Given the description of an element on the screen output the (x, y) to click on. 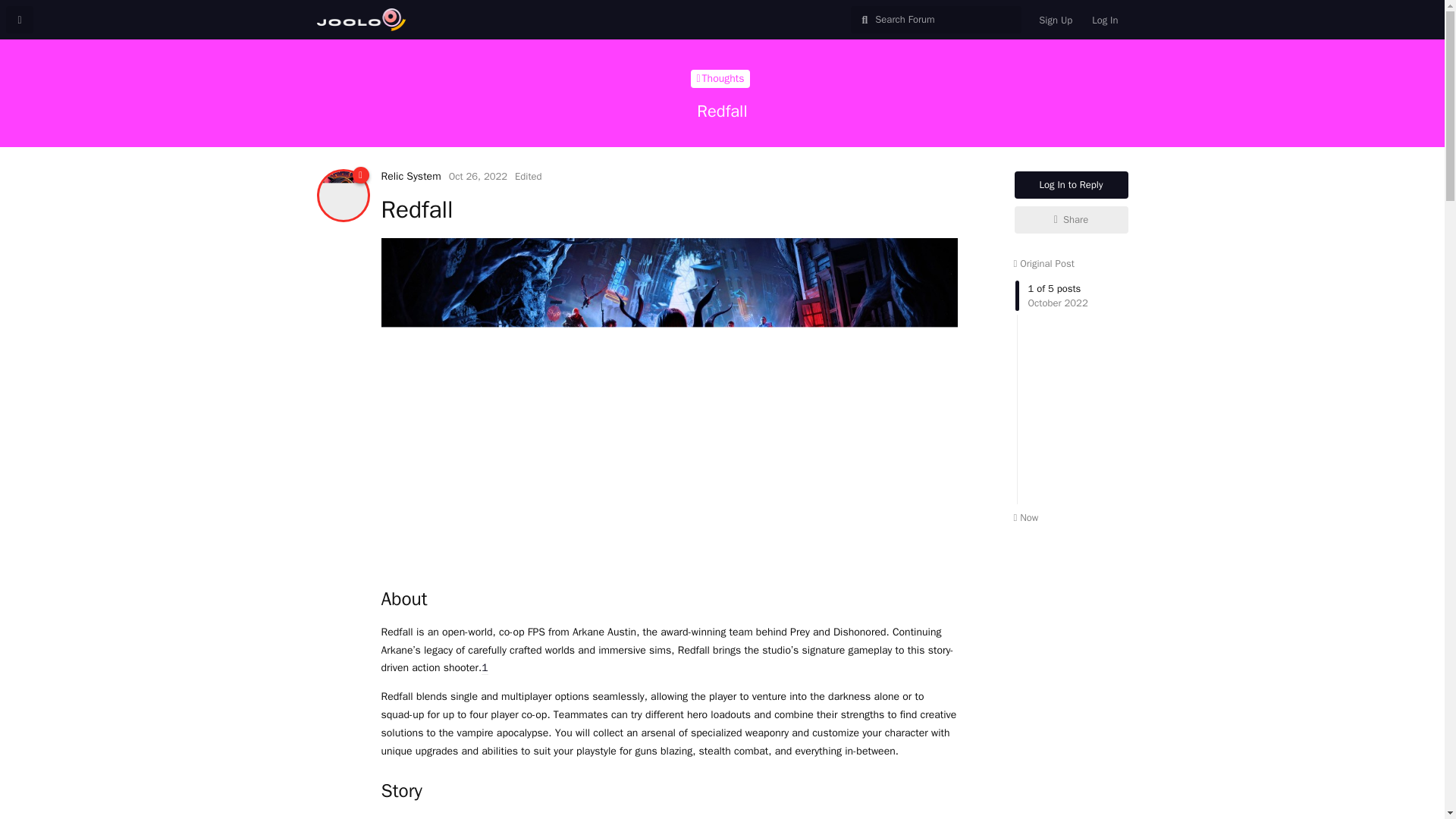
Share (1071, 219)
Wednesday, October 26, 2022 2:06 PM (477, 175)
Thoughts (719, 78)
Sign Up (1055, 19)
Oct 26, 2022 (477, 175)
Now (1025, 517)
Relic System (410, 175)
Original Post (1043, 263)
Log In to Reply (1071, 185)
